Given the description of an element on the screen output the (x, y) to click on. 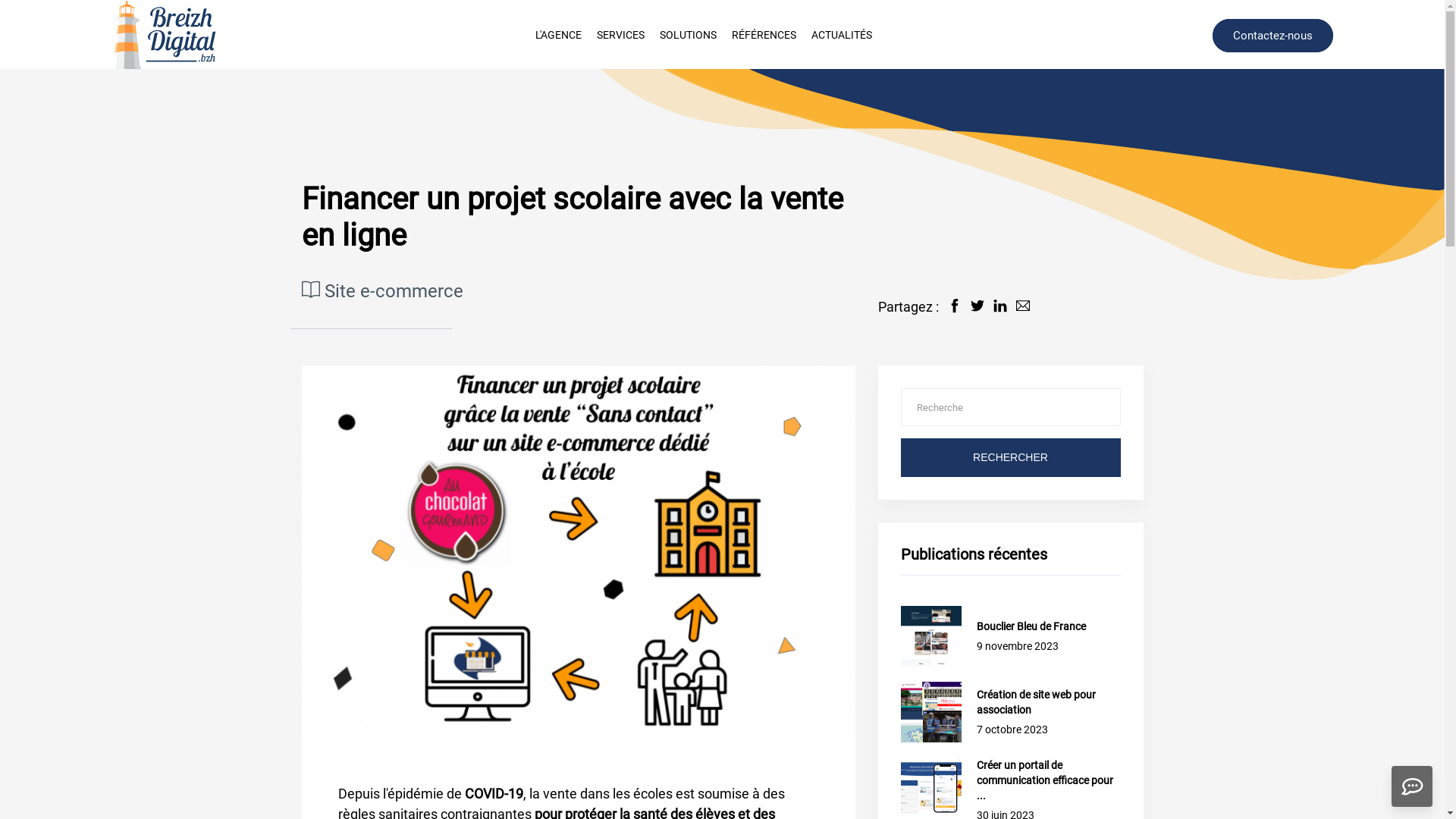
SOLUTIONS Element type: text (688, 34)
L'AGENCE Element type: text (558, 34)
SERVICES Element type: text (620, 34)
Contactez-nous Element type: text (1272, 35)
Bouclier Bleu de France Element type: text (1048, 625)
RECHERCHER Element type: text (1010, 457)
